Given the description of an element on the screen output the (x, y) to click on. 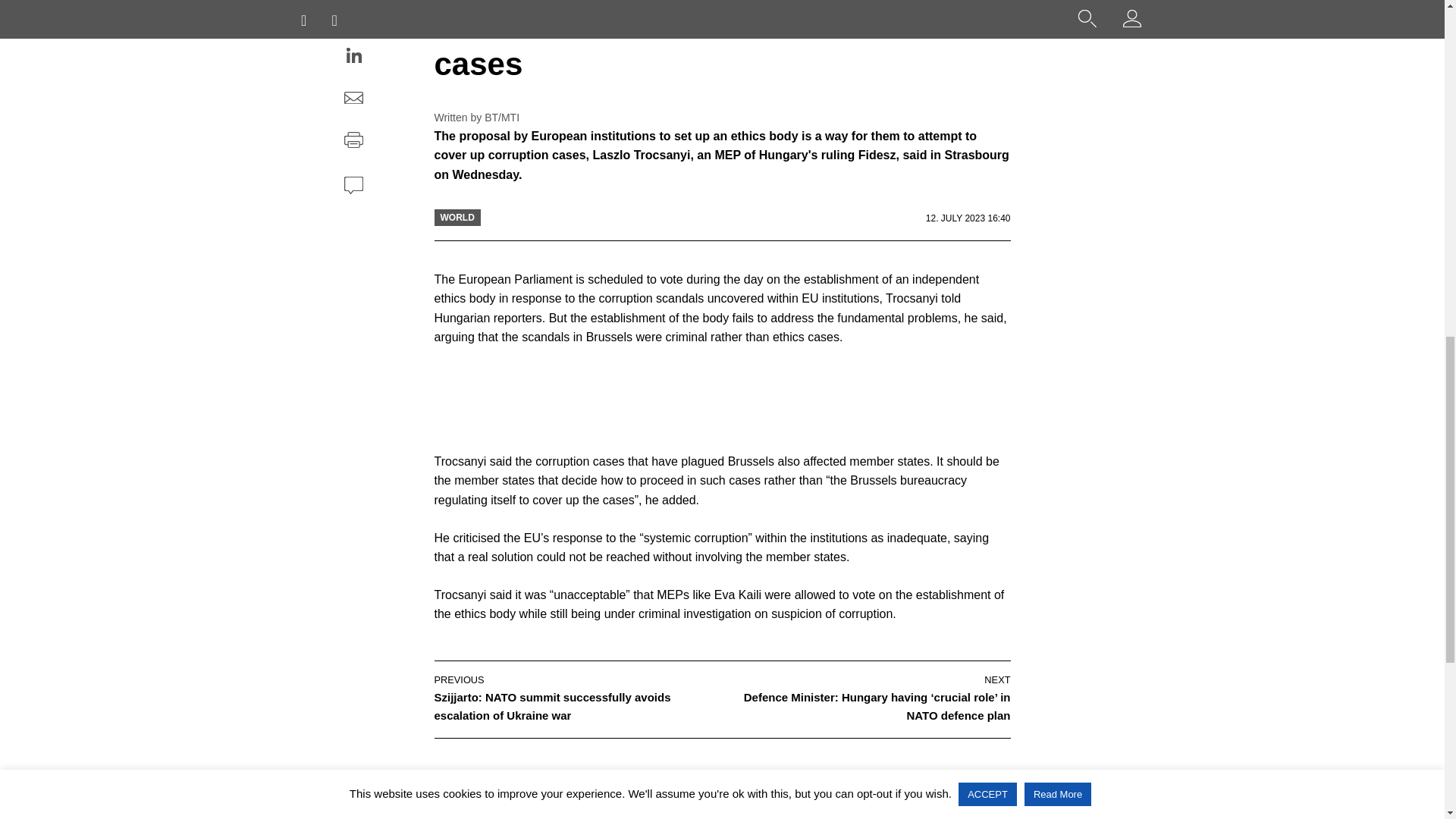
Twitter (352, 15)
LinkedIn (352, 57)
Print (352, 142)
Email (352, 99)
